Given the description of an element on the screen output the (x, y) to click on. 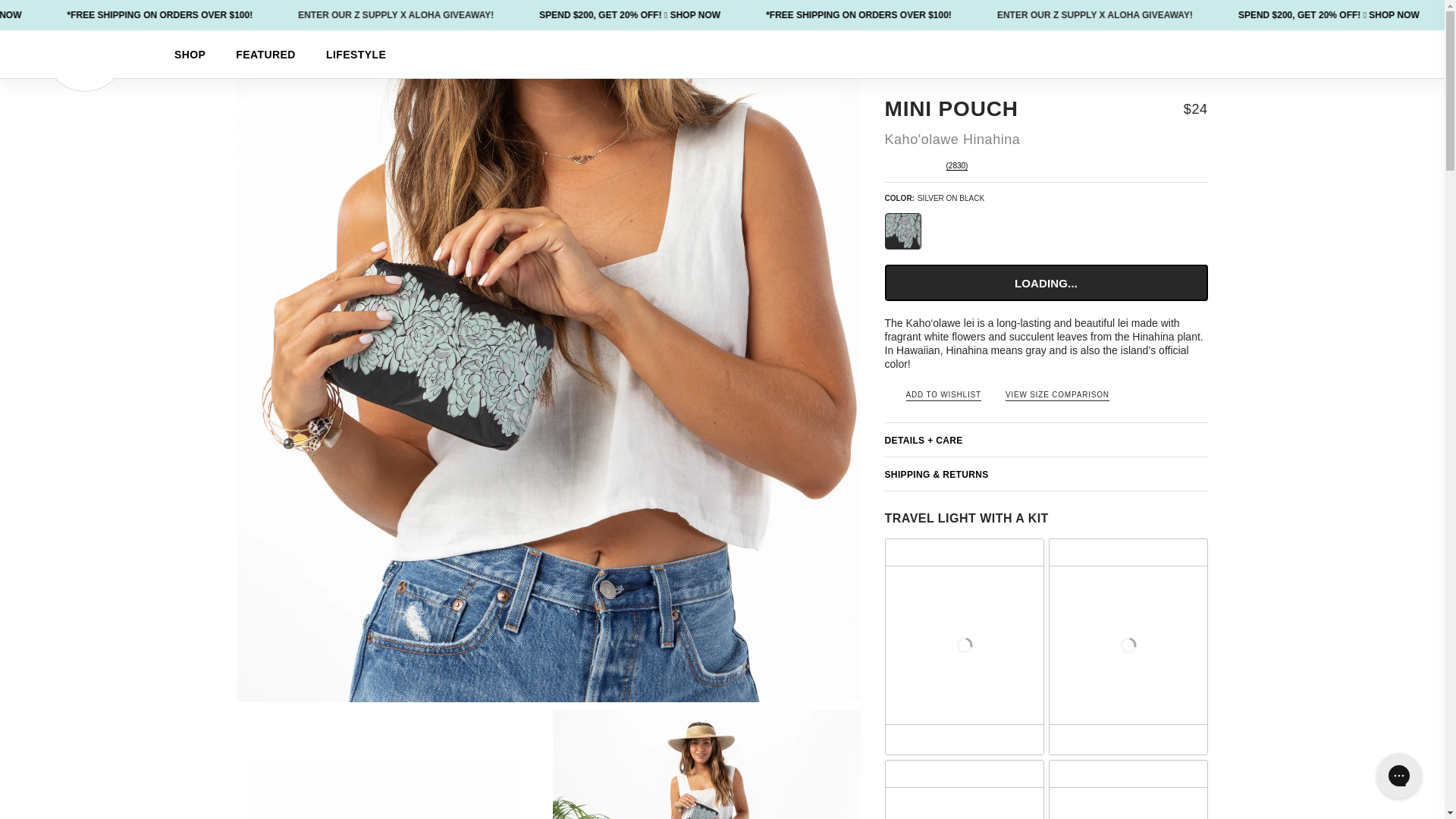
ADD TO WISHLIST (931, 394)
FEATURED (266, 54)
Gorgias live chat messenger (1398, 775)
ENTER OUR Z SUPPLY X ALOHA GIVEAWAY! (590, 14)
LIFESTYLE (356, 54)
ENTER OUR Z SUPPLY X ALOHA GIVEAWAY! (1287, 14)
LOADING... (1045, 282)
SHOP (189, 54)
